Given the description of an element on the screen output the (x, y) to click on. 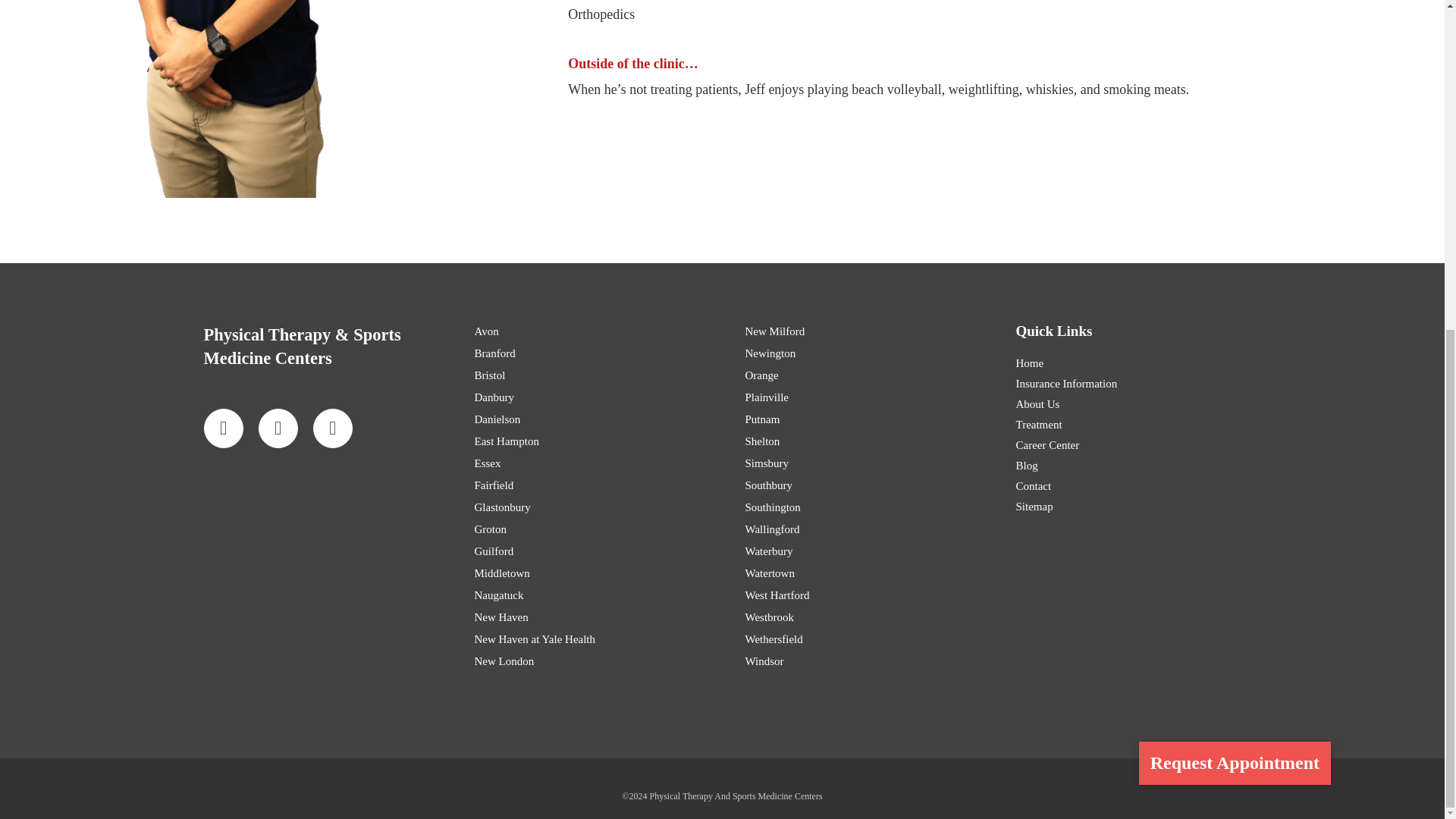
Jeff Lo (240, 99)
